Given the description of an element on the screen output the (x, y) to click on. 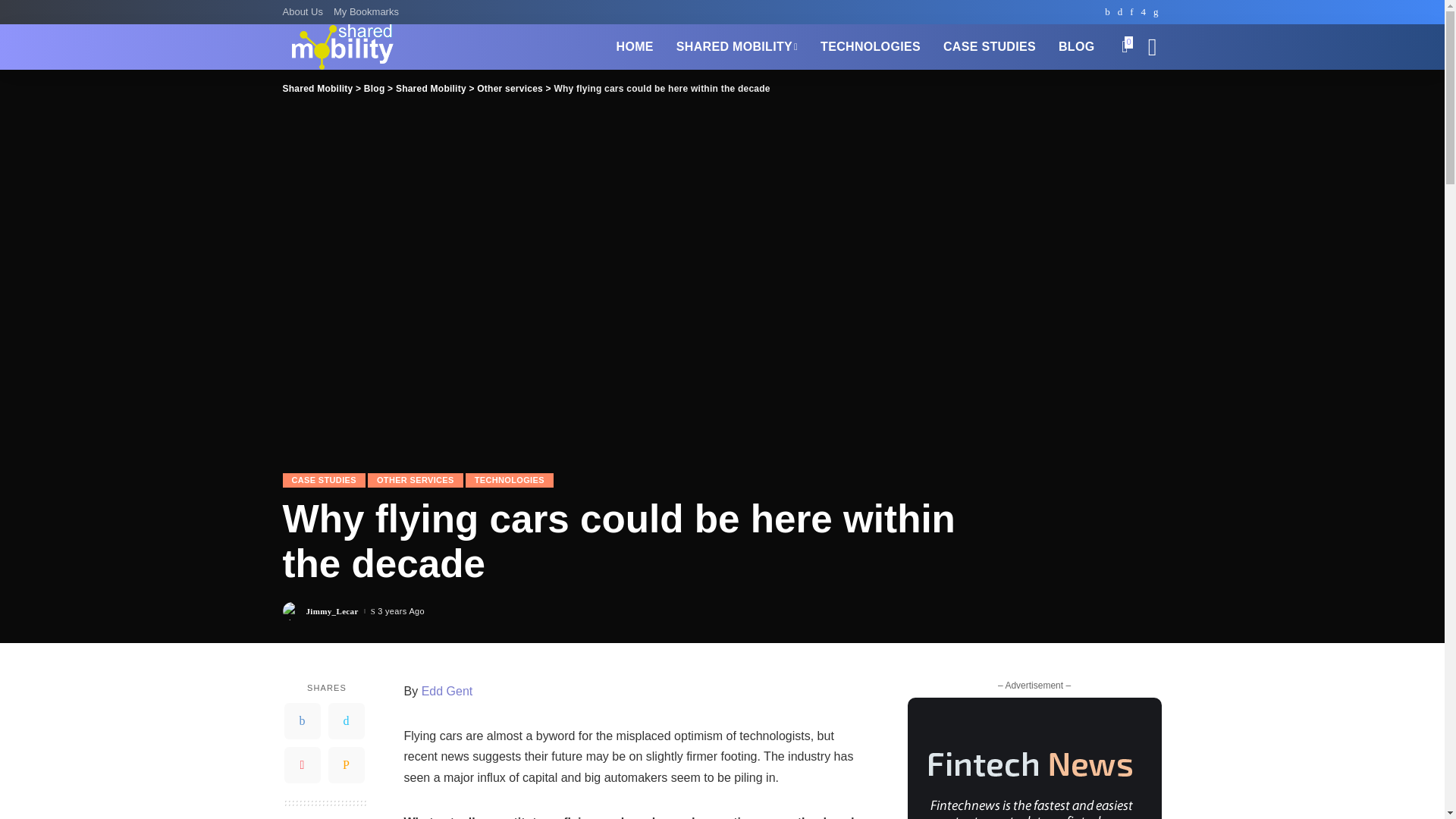
HOME (635, 46)
SHARED MOBILITY (737, 46)
About Us (304, 12)
Shared Mobility (341, 46)
My Bookmarks (366, 12)
